Given the description of an element on the screen output the (x, y) to click on. 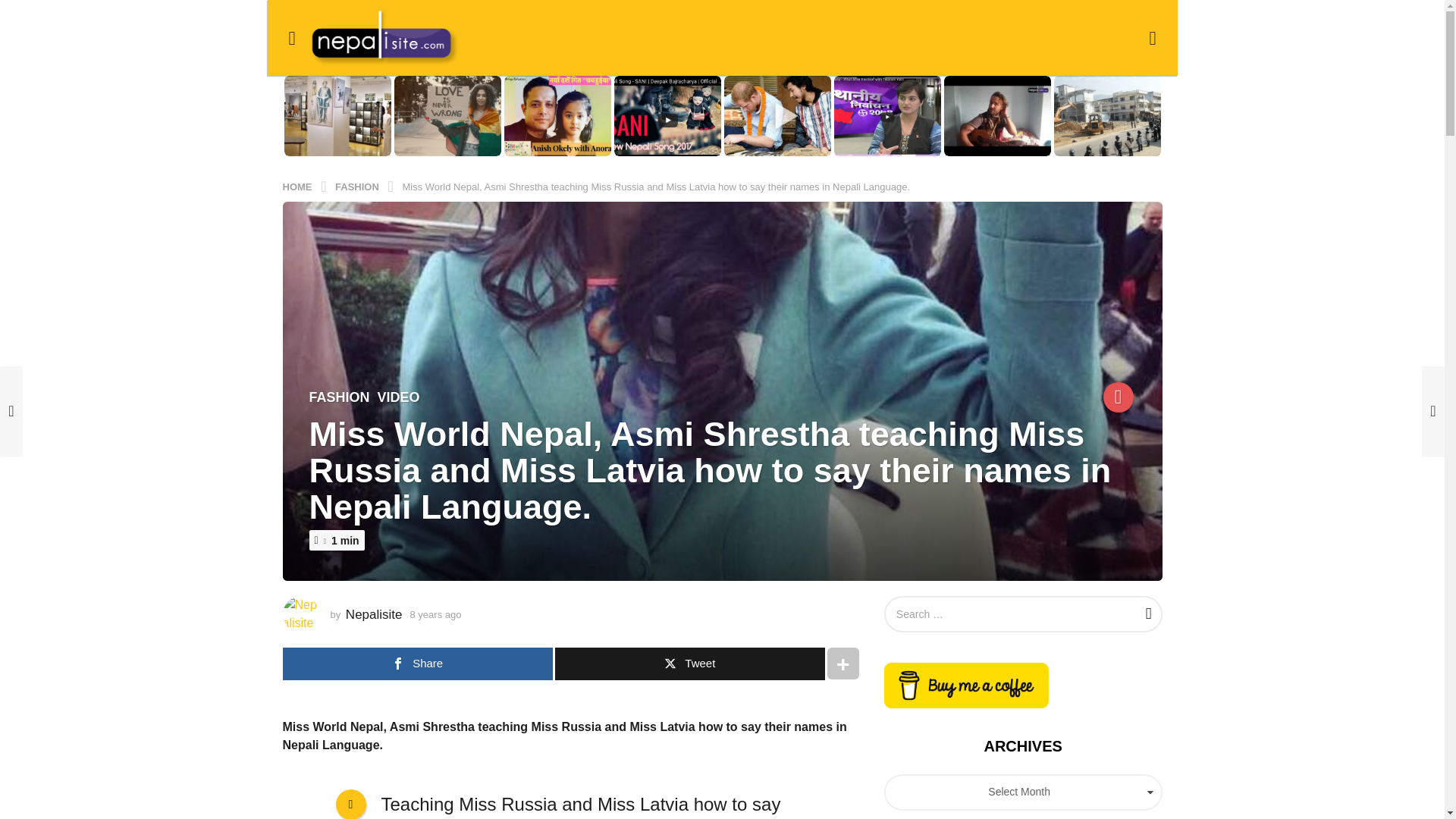
Trending (1117, 397)
